Given the description of an element on the screen output the (x, y) to click on. 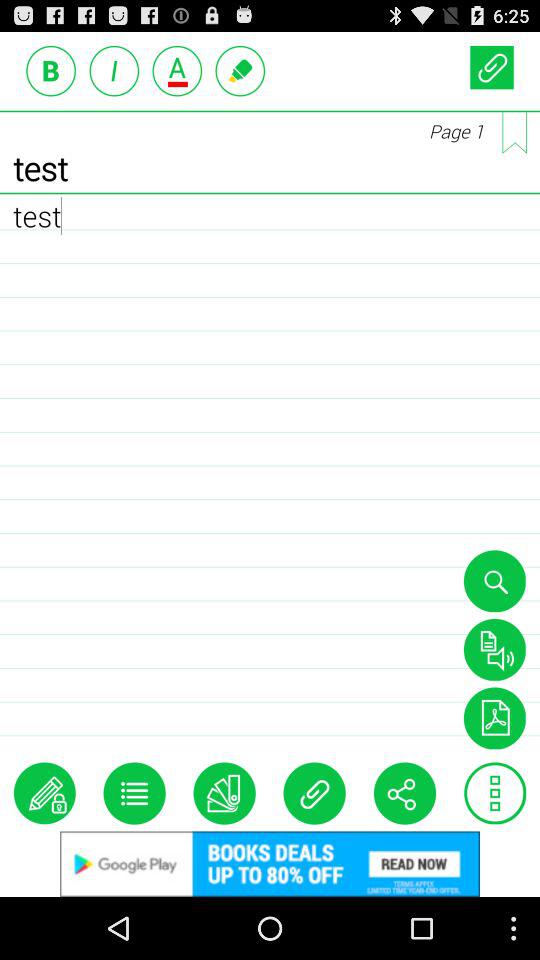
go to save (494, 649)
